Given the description of an element on the screen output the (x, y) to click on. 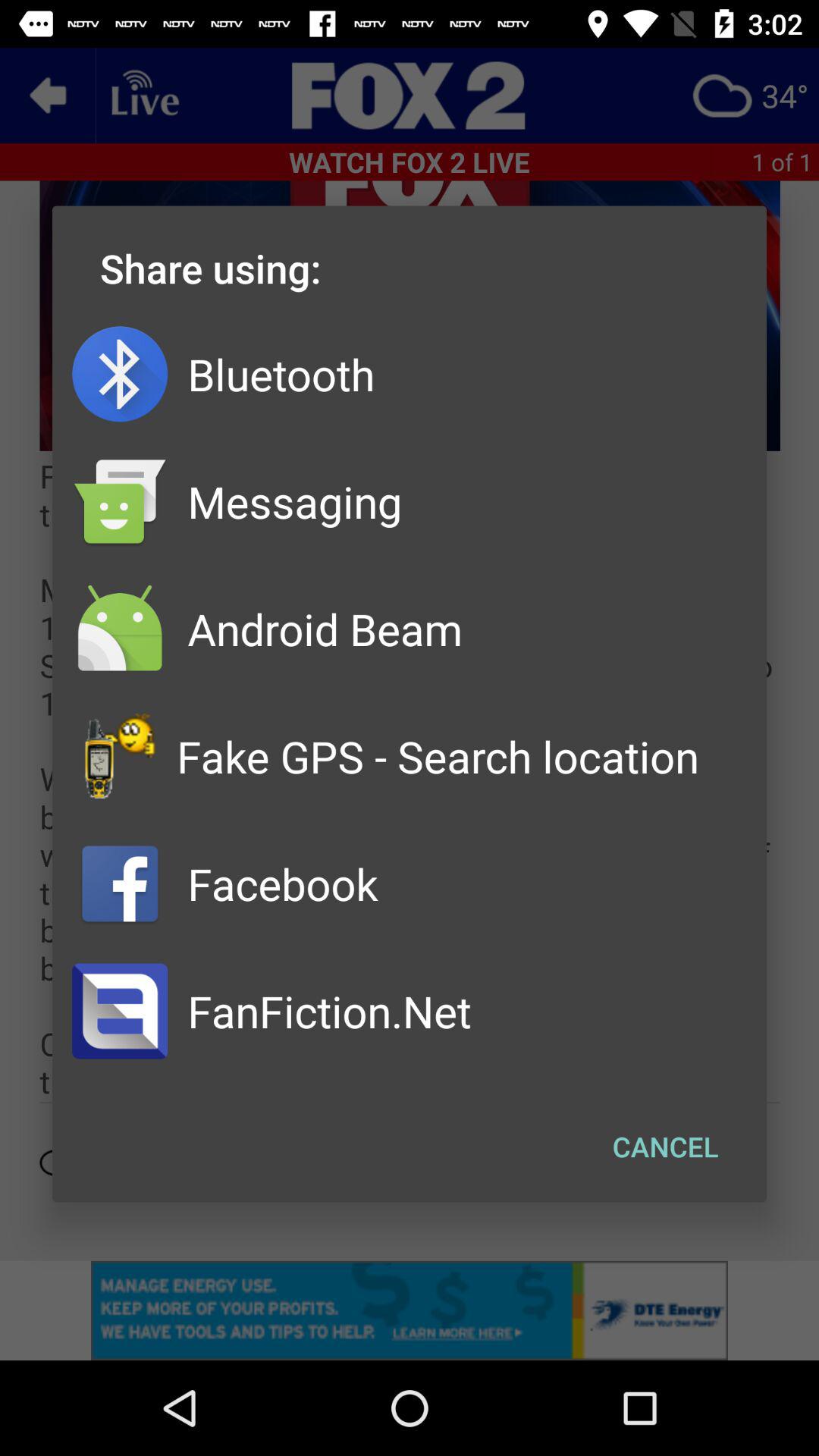
turn off cancel icon (665, 1146)
